Given the description of an element on the screen output the (x, y) to click on. 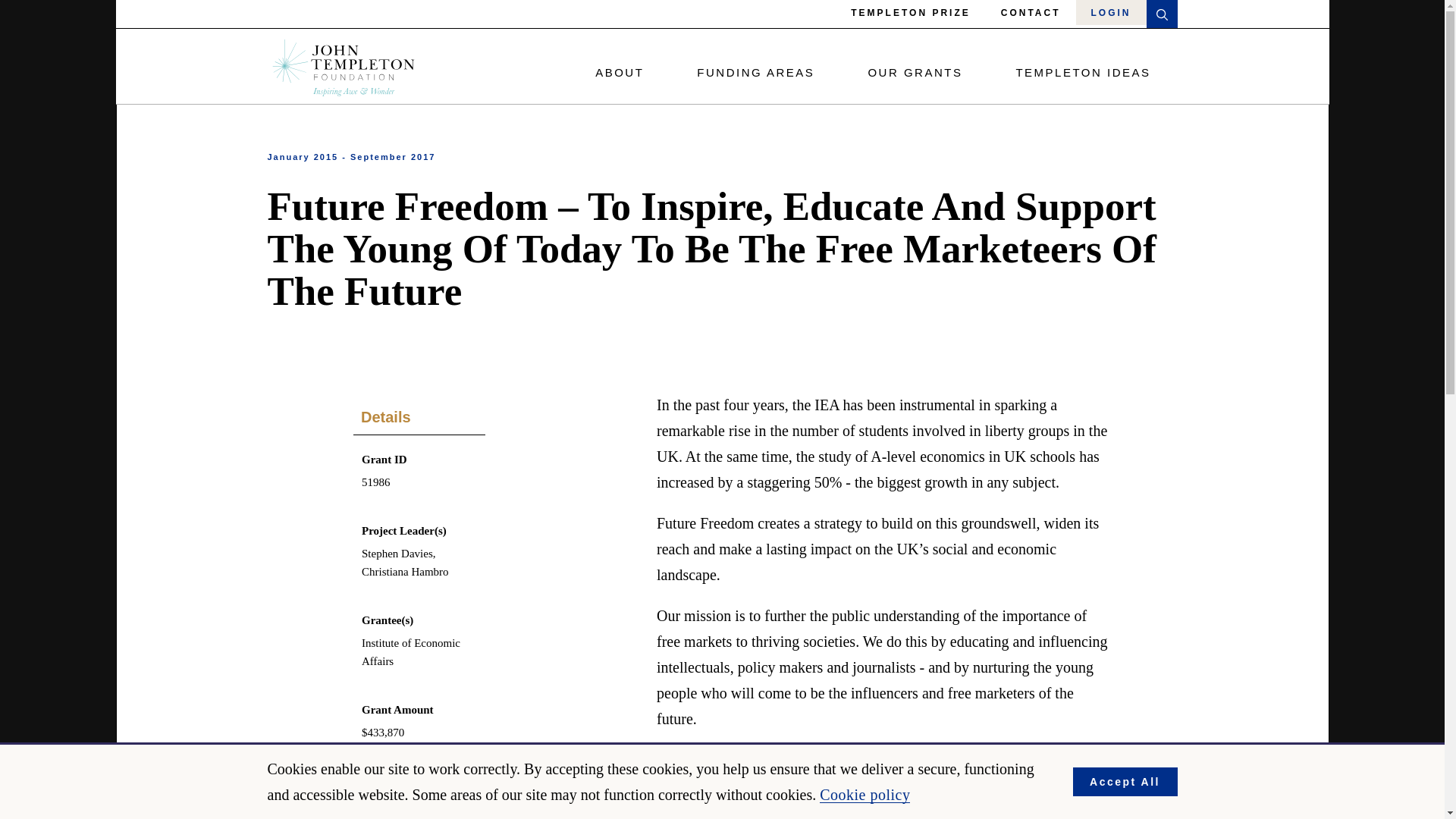
Sign Up (1032, 789)
